Given the description of an element on the screen output the (x, y) to click on. 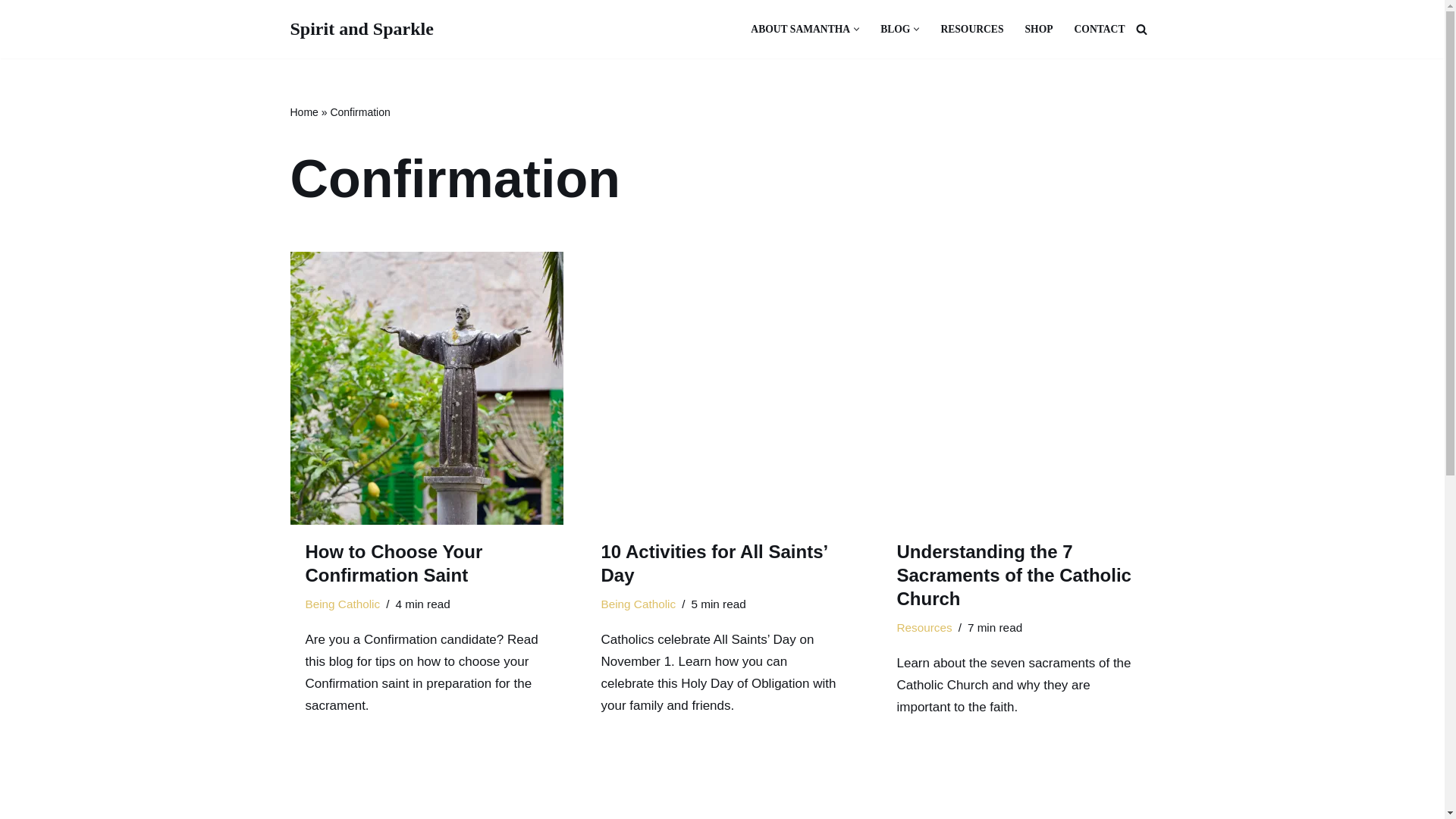
ABOUT SAMANTHA (800, 28)
CONTACT (1099, 28)
How to Choose Your Confirmation Saint (392, 563)
Home (303, 111)
Understanding the 7 Sacraments of the Catholic Church (1017, 387)
Skip to content (11, 31)
Being Catholic (342, 603)
How to Choose Your Confirmation Saint (425, 387)
SHOP (1038, 28)
Spirit and Sparkle (360, 29)
